Given the description of an element on the screen output the (x, y) to click on. 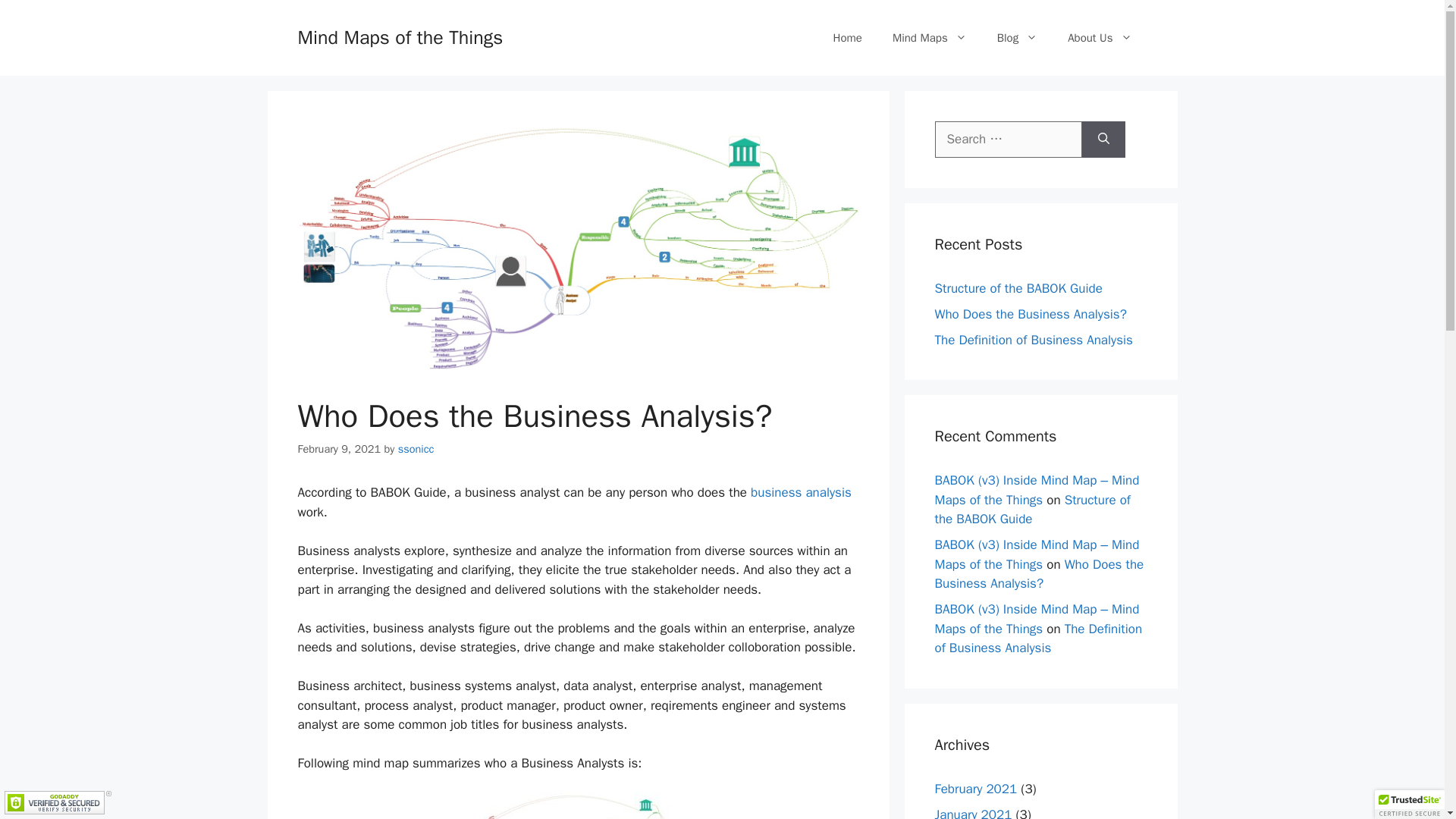
Home (847, 37)
Structure of the BABOK Guide (1018, 288)
Who Does the Business Analysis? (1029, 314)
Blog (1016, 37)
The Definition of Business Analysis (1037, 637)
About Us (1099, 37)
View all posts by ssonicc (415, 448)
Who Does the Business Analysis? (1038, 574)
The Definition of Business Analysis (1033, 340)
business analysis (801, 492)
ssonicc (415, 448)
Structure of the BABOK Guide (1031, 509)
Mind Maps (929, 37)
Search for: (1007, 139)
Mind Maps of the Things (399, 37)
